Given the description of an element on the screen output the (x, y) to click on. 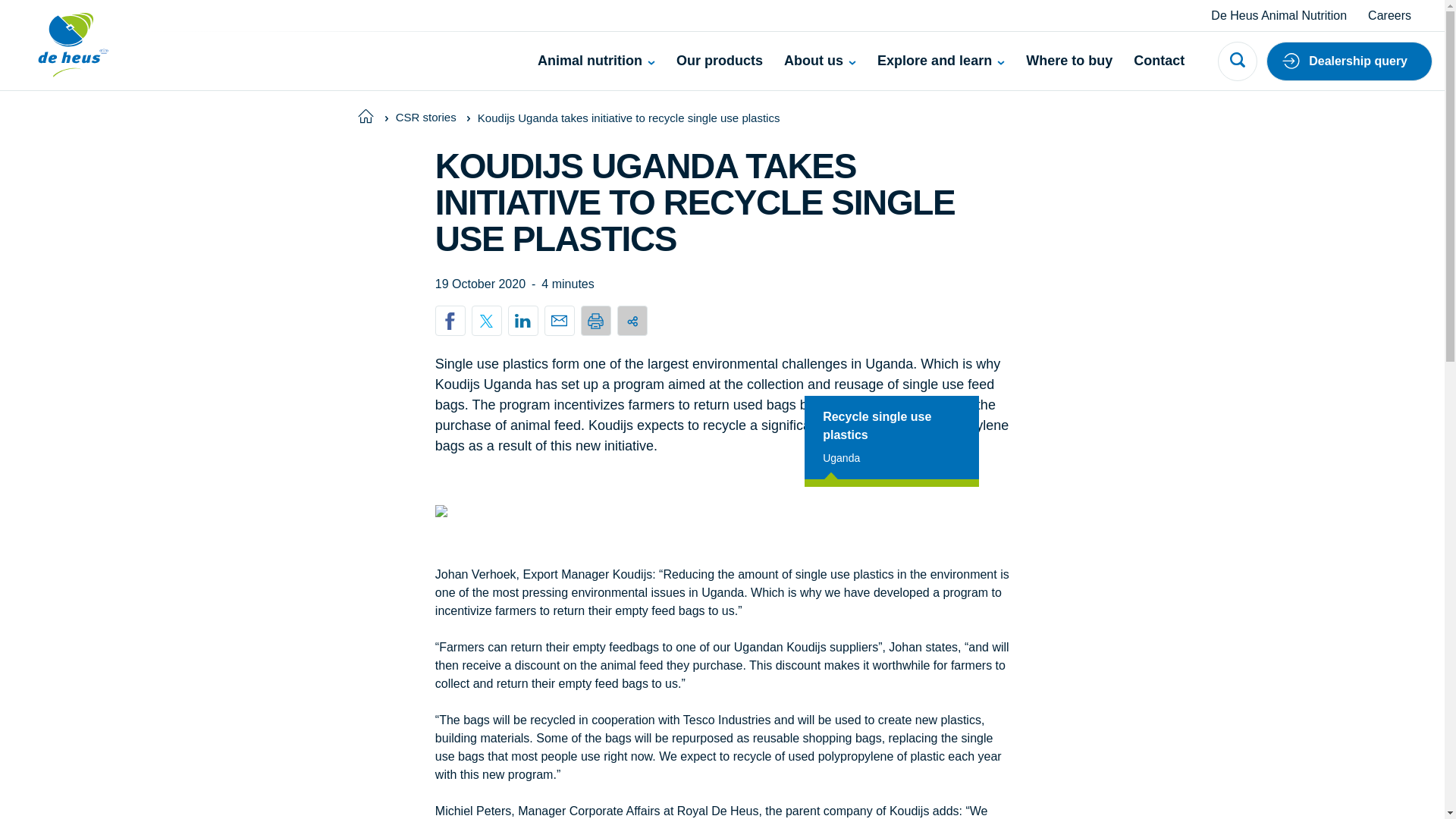
Animal nutrition (596, 60)
About us (820, 60)
De Heus Animal Nutrition (1278, 15)
Explore and learn (940, 60)
Our products (719, 60)
Careers (1389, 15)
